Given the description of an element on the screen output the (x, y) to click on. 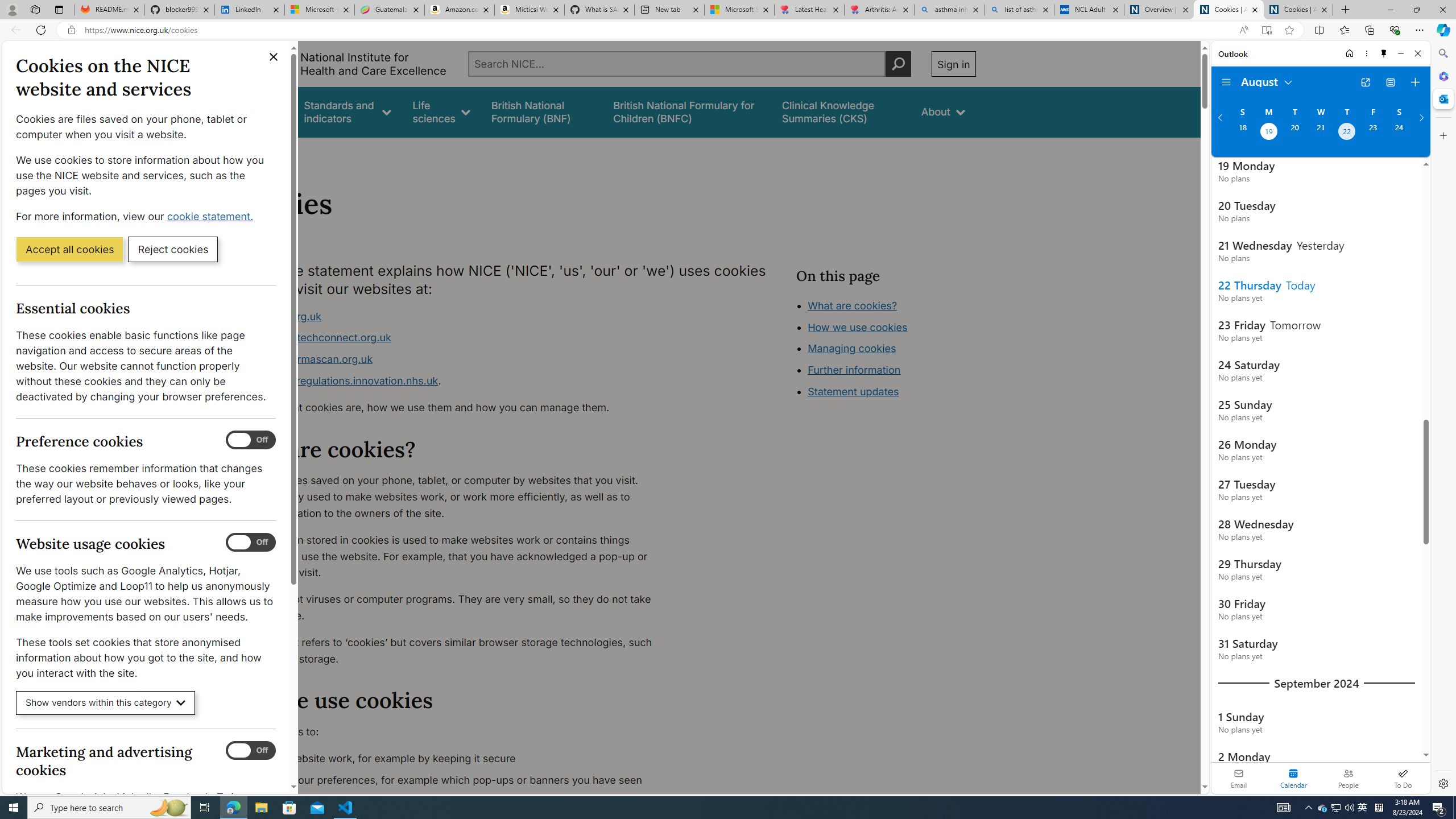
Create event (1414, 82)
Saturday, August 24, 2024.  (1399, 132)
false (841, 111)
asthma inhaler - Search (949, 9)
www.nice.org.uk (279, 315)
Arthritis: Ask Health Professionals (879, 9)
Open in new tab (1365, 82)
www.healthtechconnect.org.uk (452, 338)
To Do (1402, 777)
